Given the description of an element on the screen output the (x, y) to click on. 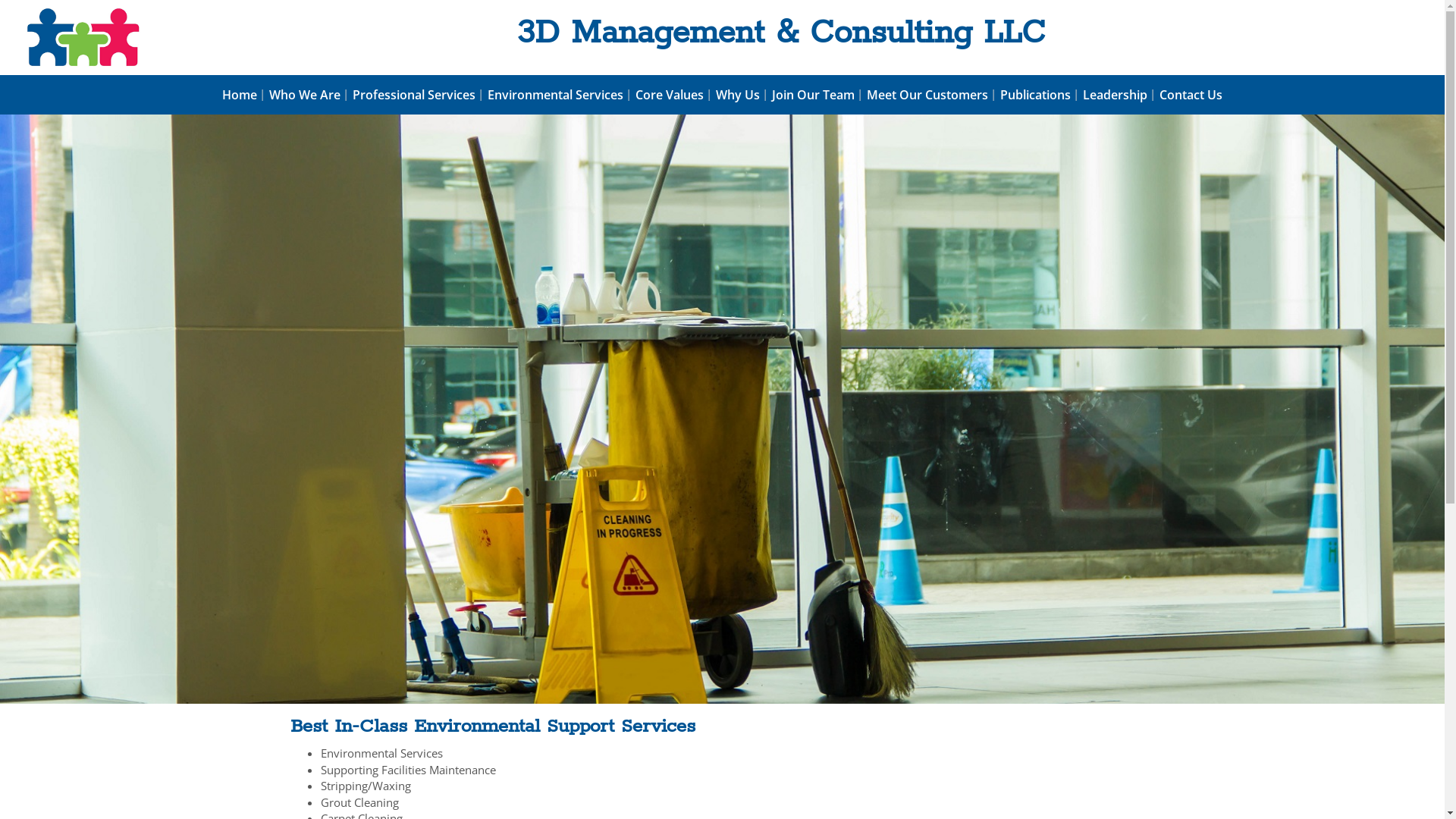
Environmental Services Element type: text (555, 94)
Why Us Element type: text (737, 94)
Professional Services Element type: text (413, 94)
Core Values Element type: text (669, 94)
Publications Element type: text (1035, 94)
Leadership Element type: text (1114, 94)
Join Our Team Element type: text (812, 94)
Home Element type: text (239, 94)
Meet Our Customers Element type: text (927, 94)
Who We Are Element type: text (304, 94)
Contact Us Element type: text (1190, 94)
